Given the description of an element on the screen output the (x, y) to click on. 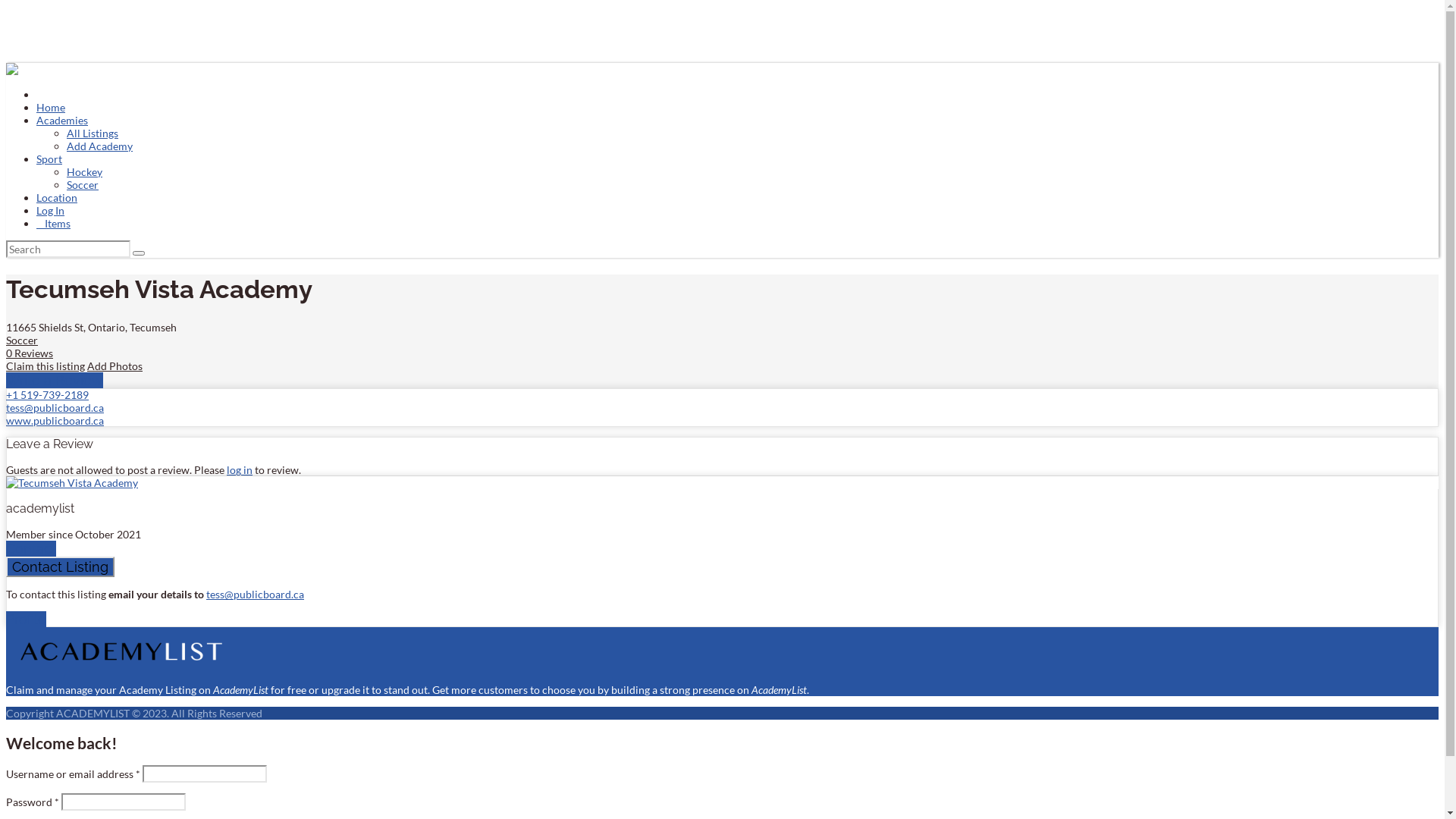
Hockey Element type: text (84, 171)
Soccer Element type: text (82, 184)
Sport Element type: text (49, 158)
Home Element type: text (50, 106)
Write a Review Element type: text (54, 380)
Claim this listing Element type: text (45, 365)
tess@publicboard.ca Element type: text (255, 593)
0 Items Element type: text (53, 222)
Log In Element type: text (50, 209)
Soccer Element type: text (21, 339)
Location Element type: text (56, 197)
Profile Element type: text (26, 619)
Add Academy Element type: text (99, 145)
Add Photos Element type: text (114, 365)
All Listings Element type: text (92, 132)
Search for: Element type: hover (68, 248)
tess@publicboard.ca Element type: text (54, 407)
www.publicboard.ca Element type: text (54, 420)
0 Reviews Element type: text (29, 352)
+1 519-739-2189 Element type: text (47, 394)
log in Element type: text (239, 469)
Academies Element type: text (61, 119)
Contact Element type: text (31, 548)
